Given the description of an element on the screen output the (x, y) to click on. 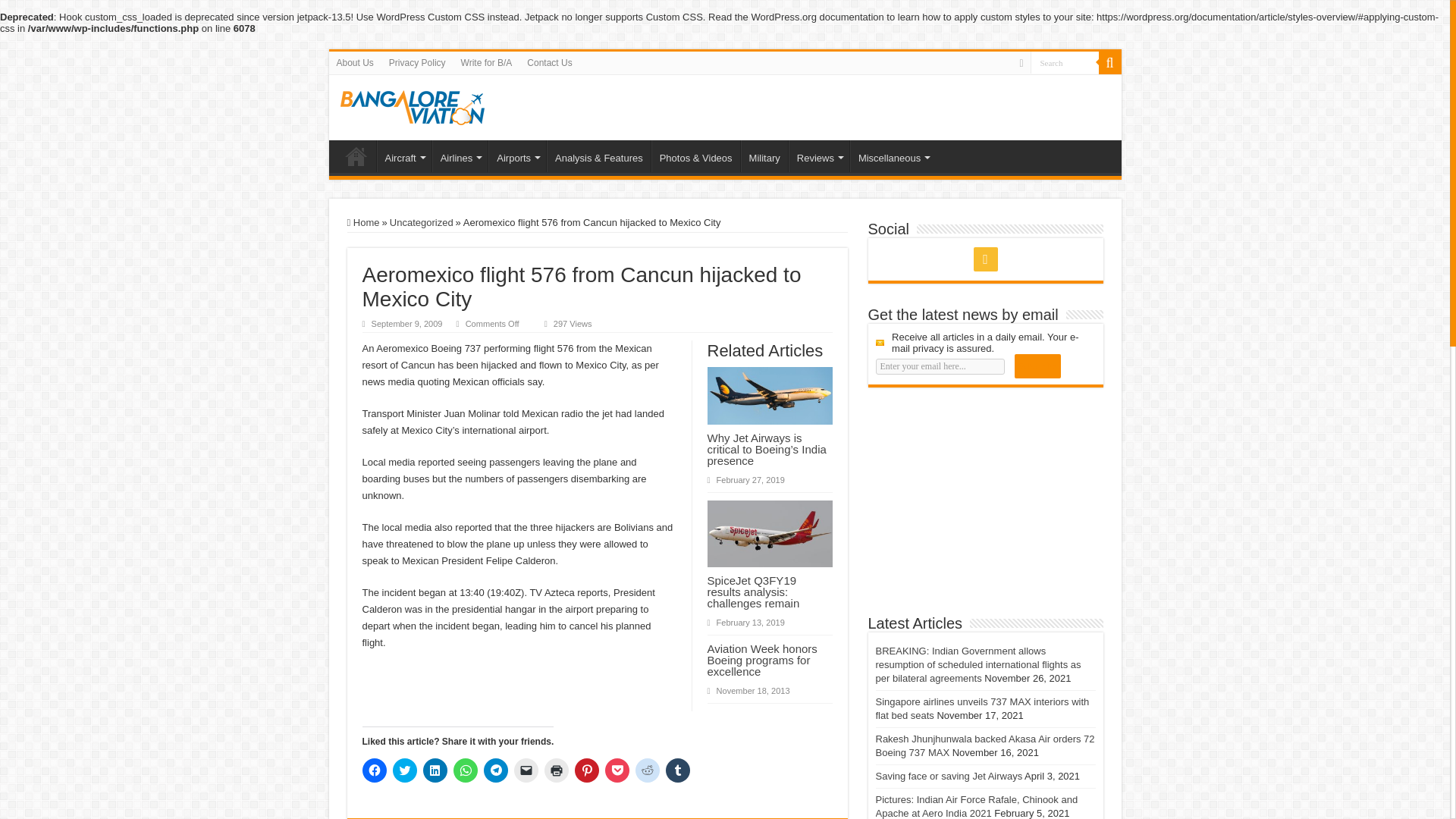
Search (1063, 62)
Search (1063, 62)
Click to share on Telegram (495, 770)
Click to share on Tumblr (677, 770)
Subscribe (1037, 365)
Click to share on Reddit (646, 770)
Click to share on LinkedIn (434, 770)
Click to share on WhatsApp (464, 770)
Search (1063, 62)
Enter your email here... (939, 366)
Click to share on Facebook (374, 770)
Click to share on Twitter (404, 770)
Click to share on Pocket (616, 770)
Click to print (556, 770)
Click to email a link to a friend (525, 770)
